Given the description of an element on the screen output the (x, y) to click on. 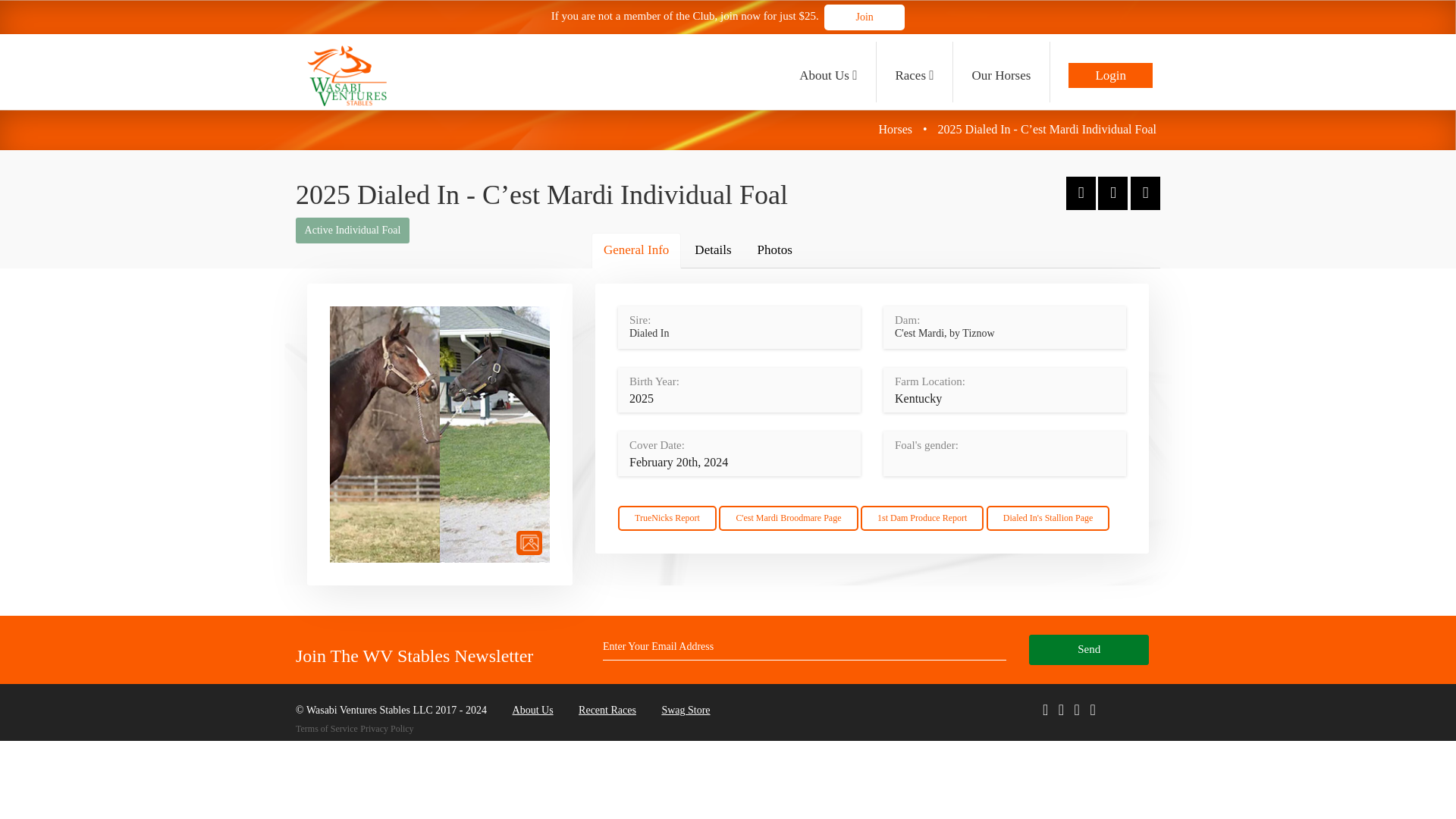
Our Horses (1000, 71)
Join (864, 17)
Horses (895, 128)
About Us (827, 71)
Login (1110, 71)
